Given the description of an element on the screen output the (x, y) to click on. 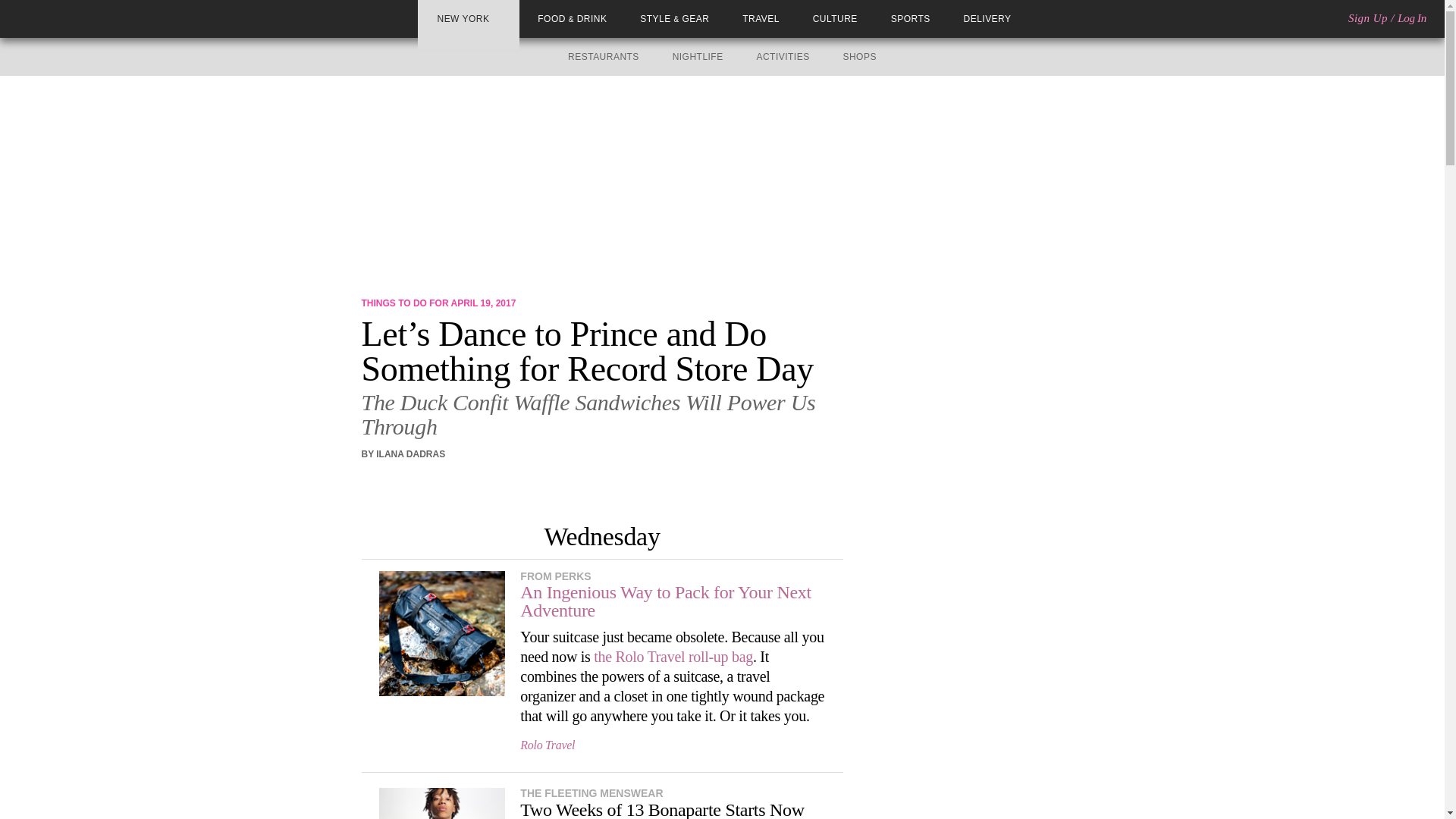
Pinterest (414, 481)
Save (437, 481)
Sign Up (1367, 18)
SPORTS (910, 18)
TRAVEL (760, 18)
NIGHTLIFE (697, 56)
Log In (1411, 18)
UrbanDaddy (67, 18)
ACTIVITIES (782, 56)
Rolo Travel (547, 744)
DELIVERY (987, 18)
RESTAURANTS (603, 56)
3rd party ad content (969, 390)
the Rolo Travel roll-up bag (673, 656)
